Given the description of an element on the screen output the (x, y) to click on. 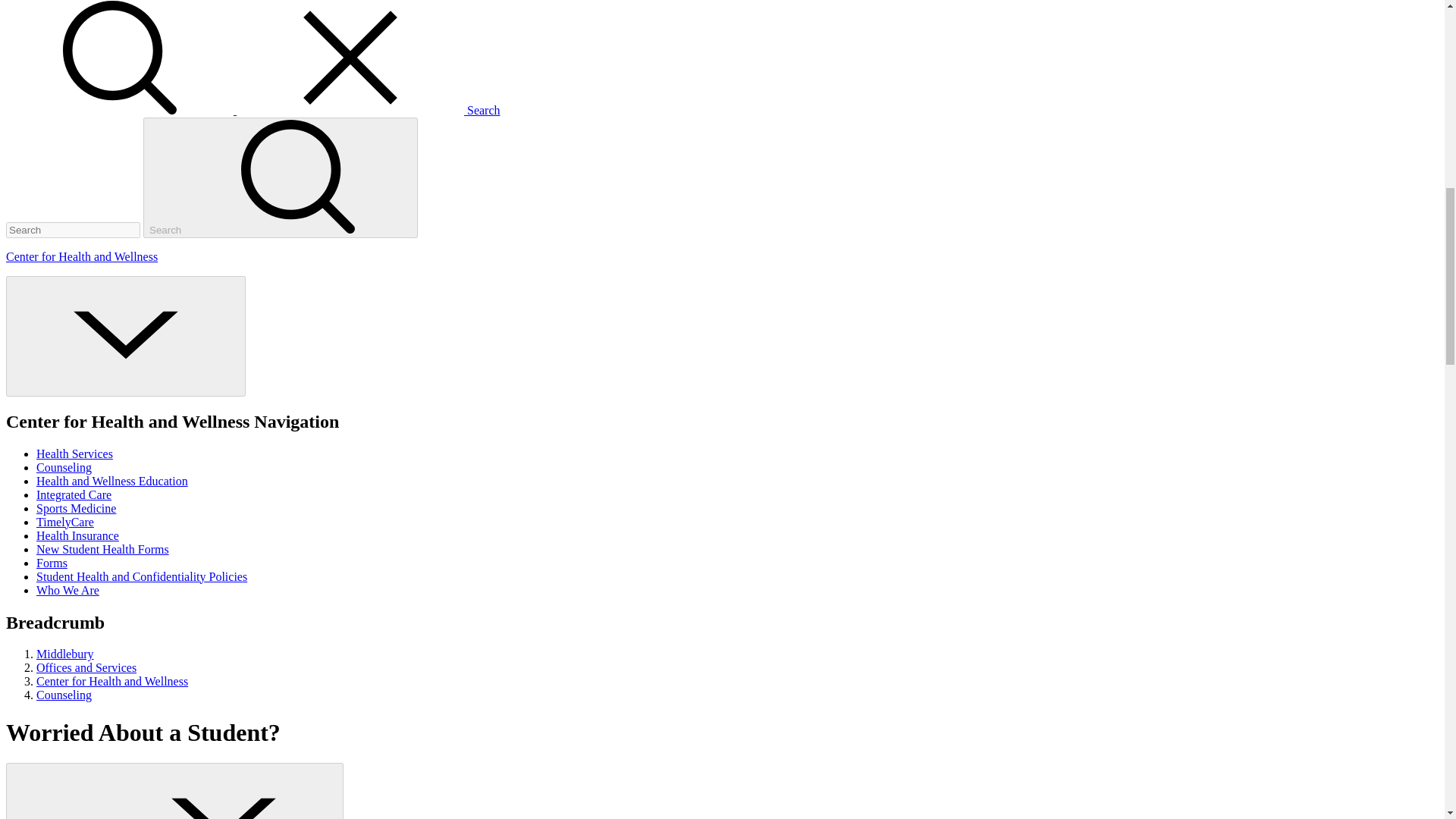
TimelyCare (65, 521)
Offices and Services (86, 667)
Counseling (63, 467)
Search (252, 110)
Student Health and Confidentiality Policies (141, 576)
Integrated Care (74, 494)
Health Services (74, 453)
Sports Medicine (76, 508)
Search (279, 177)
Forms (51, 562)
New Student Health Forms (102, 549)
Health and Wellness Education (111, 481)
Middlebury (65, 653)
Who We Are (67, 590)
Health Insurance (77, 535)
